Given the description of an element on the screen output the (x, y) to click on. 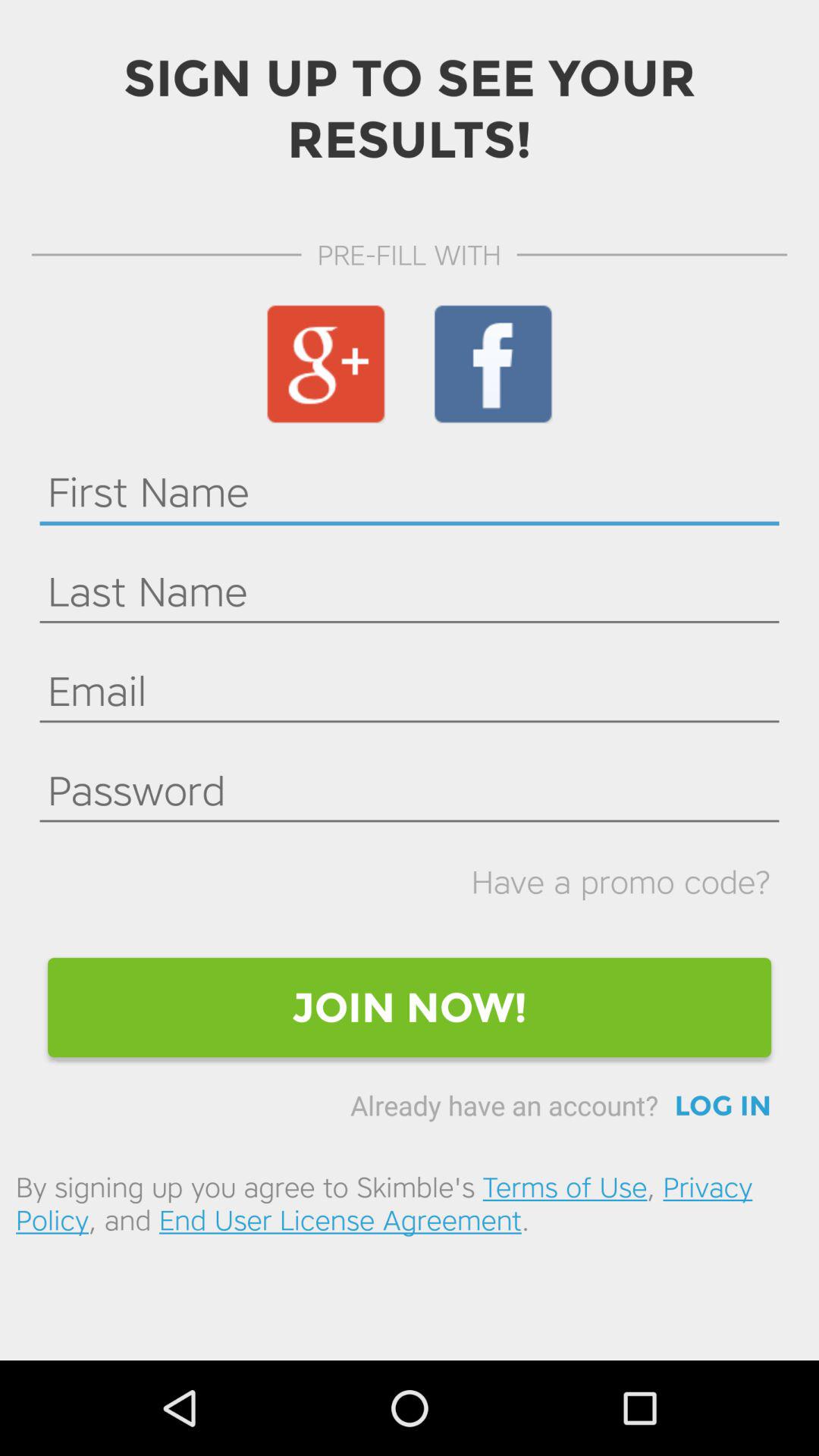
launch by signing up icon (409, 1203)
